Given the description of an element on the screen output the (x, y) to click on. 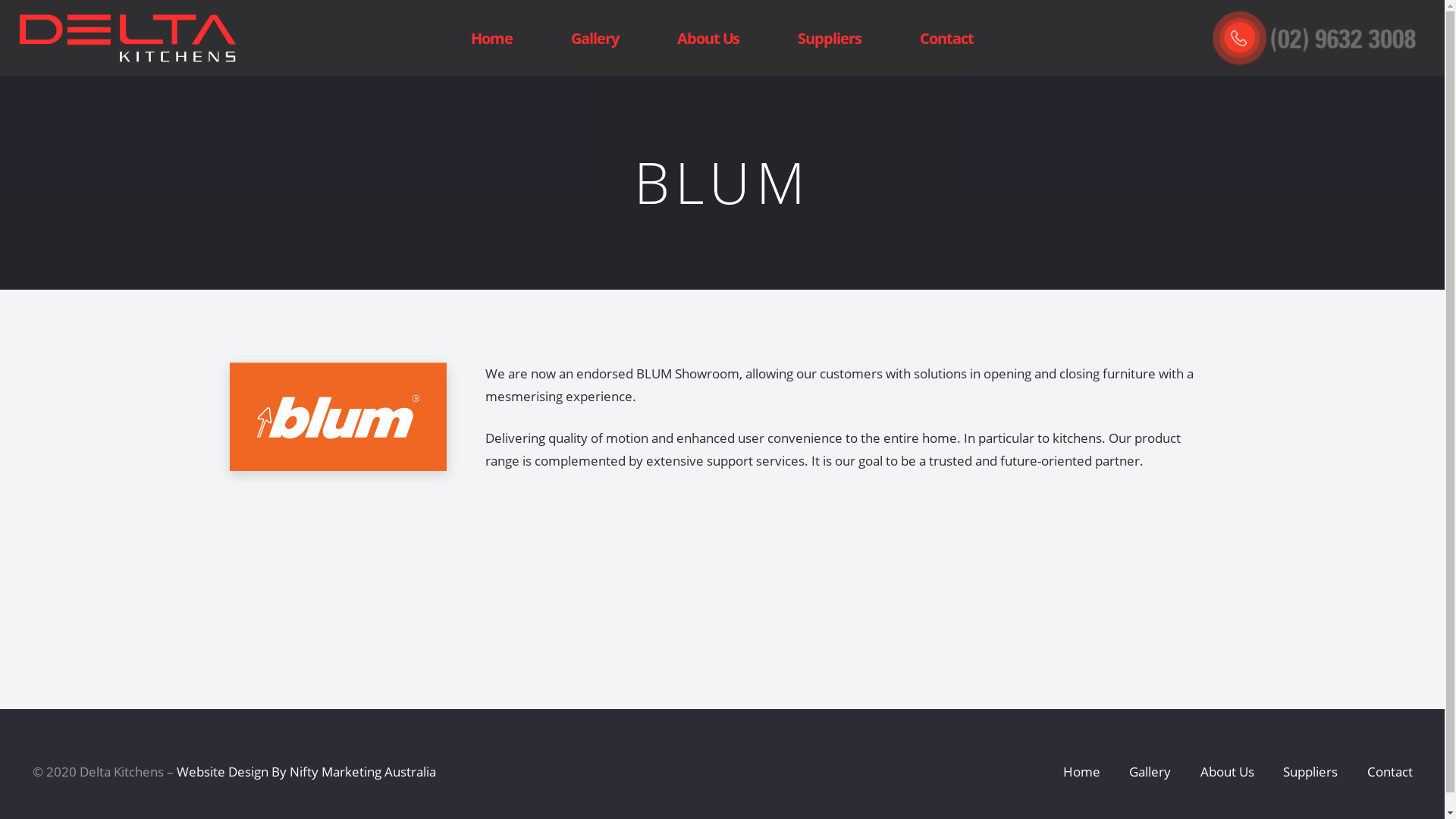
Contact Element type: text (1389, 771)
Suppliers Element type: text (829, 37)
Gallery Element type: text (595, 37)
About Us Element type: text (707, 37)
Contact Element type: text (946, 37)
Gallery Element type: text (1149, 771)
About Us Element type: text (1227, 771)
Suppliers Element type: text (1310, 771)
Website Design By Nifty Marketing Australia Element type: text (305, 771)
Home Element type: text (492, 37)
Home Element type: text (1081, 771)
